Given the description of an element on the screen output the (x, y) to click on. 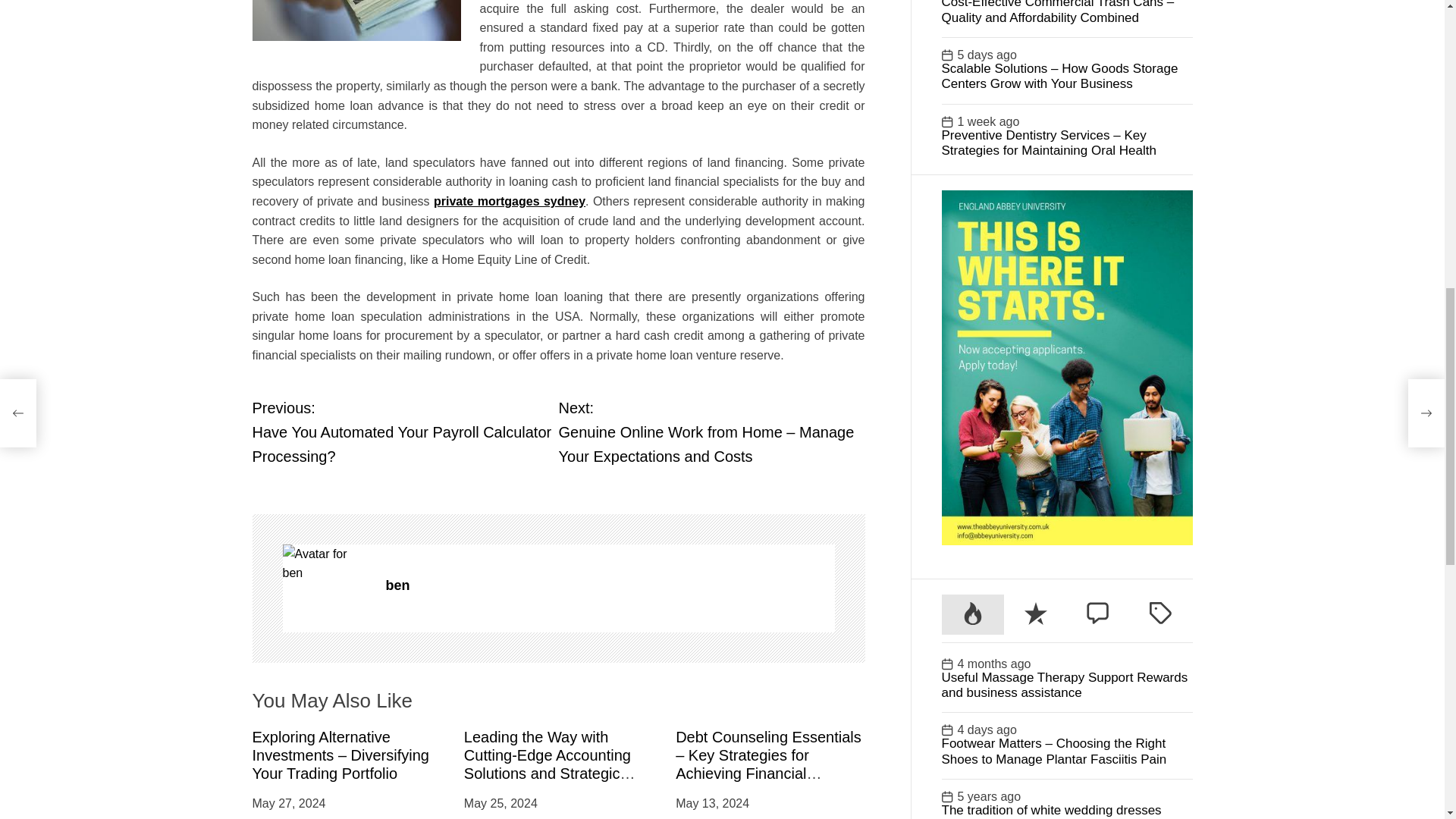
ben (609, 585)
ben (609, 585)
private mortgages sydney (509, 201)
ben (325, 563)
